Given the description of an element on the screen output the (x, y) to click on. 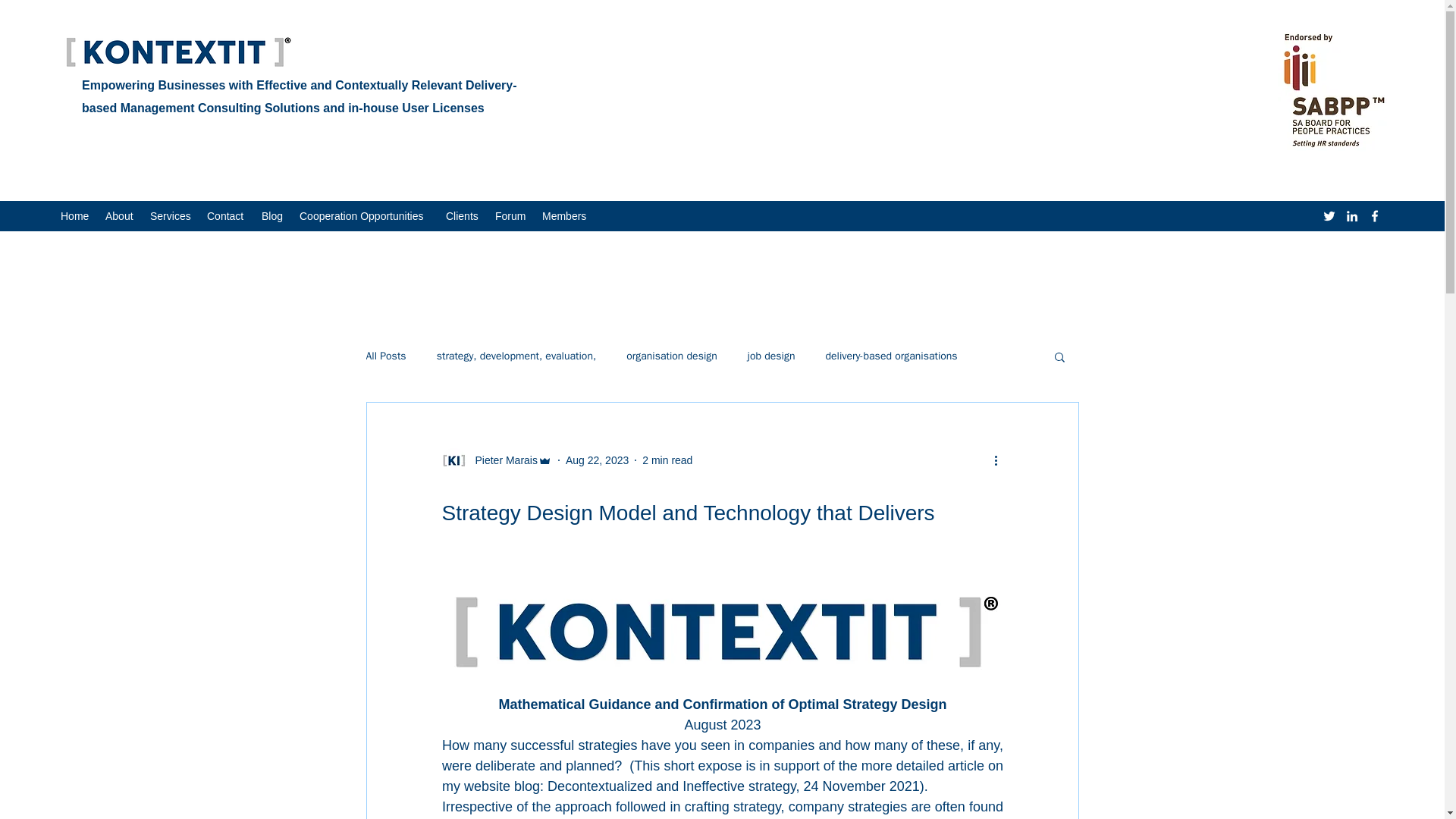
Home (74, 215)
strategy, development, evaluation, (516, 356)
SABPP Endorsement.jpg (1334, 90)
Services (170, 215)
Forum (510, 215)
Cooperation Opportunities (365, 215)
Clients (462, 215)
Aug 22, 2023 (597, 459)
Blog (272, 215)
Pieter Marais (496, 459)
job design (771, 356)
All Posts (385, 356)
2 min read (667, 459)
Pieter Marais (501, 459)
Members (565, 215)
